Given the description of an element on the screen output the (x, y) to click on. 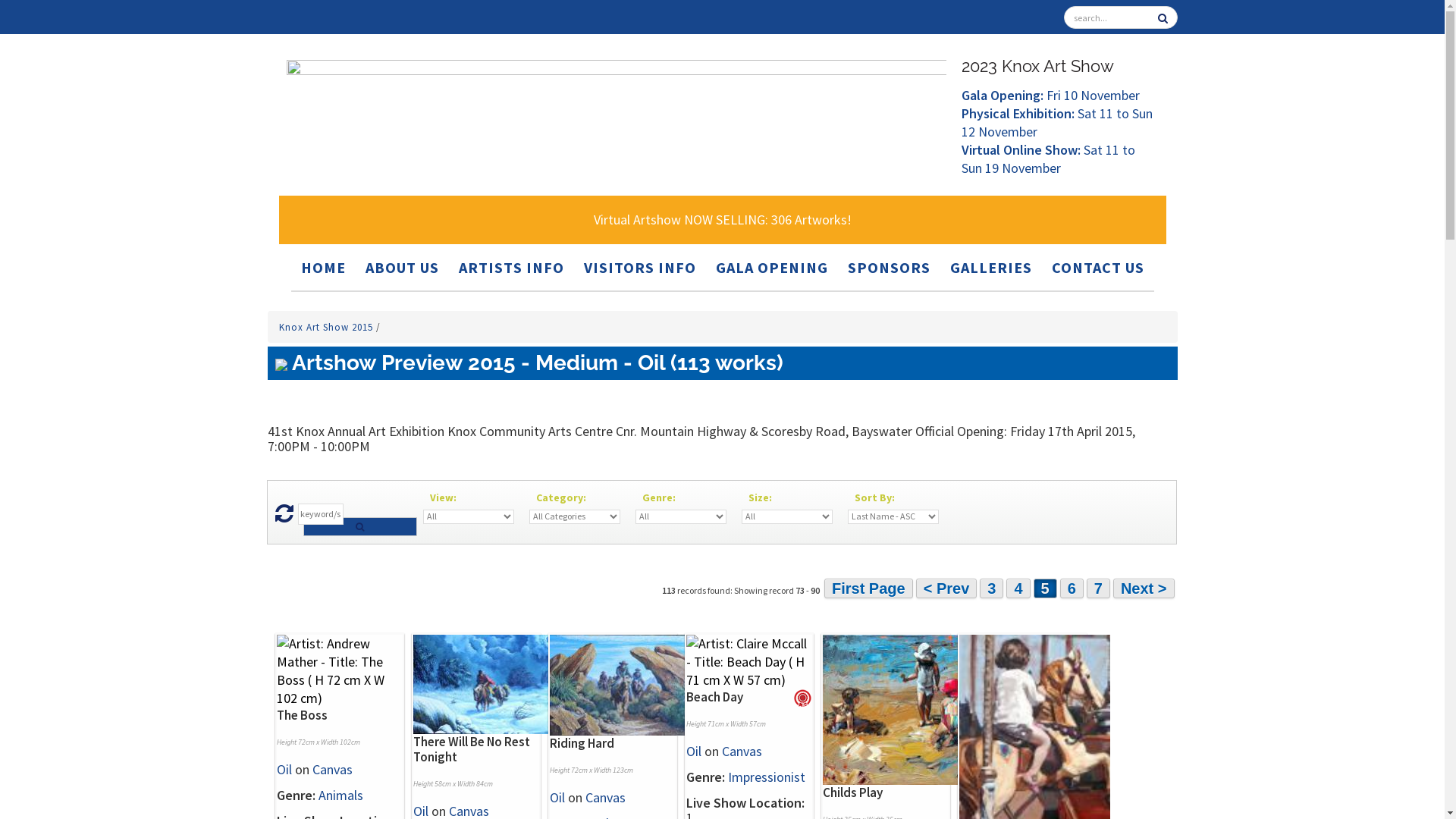
GALLERIES Element type: text (989, 267)
ARTISTS INFO Element type: text (510, 267)
Reset Search Criteria Element type: hover (283, 517)
Childs Play Element type: text (851, 792)
Next > Element type: text (1143, 588)
There Will Be No Rest Tonight Element type: text (470, 749)
Knox Art Show 2015 Element type: text (327, 326)
4 Element type: text (1017, 588)
CONTACT US Element type: text (1097, 267)
SPONSORS Element type: text (889, 267)
Impressionist Element type: text (766, 776)
ABOUT US Element type: text (401, 267)
Beach Day Element type: text (713, 696)
Canvas Element type: text (332, 769)
First Page Element type: text (868, 588)
VISITORS INFO Element type: text (639, 267)
Canvas Element type: text (605, 797)
< Prev Element type: text (946, 588)
7 Element type: text (1098, 588)
Canvas Element type: text (741, 750)
GALA OPENING Element type: text (771, 267)
Oil Element type: text (283, 769)
Oil Element type: text (692, 750)
Oil Element type: text (556, 797)
HOME Element type: text (322, 267)
6 Element type: text (1071, 588)
The Boss Element type: text (301, 714)
Virtual Artshow NOW SELLING: 306 Artworks! Element type: text (722, 219)
3 Element type: text (991, 588)
Best Oil/Acrylic at The Knox Art Exhibition 2015 Element type: hover (802, 698)
Riding Hard Element type: text (581, 742)
Animals Element type: text (340, 794)
